Given the description of an element on the screen output the (x, y) to click on. 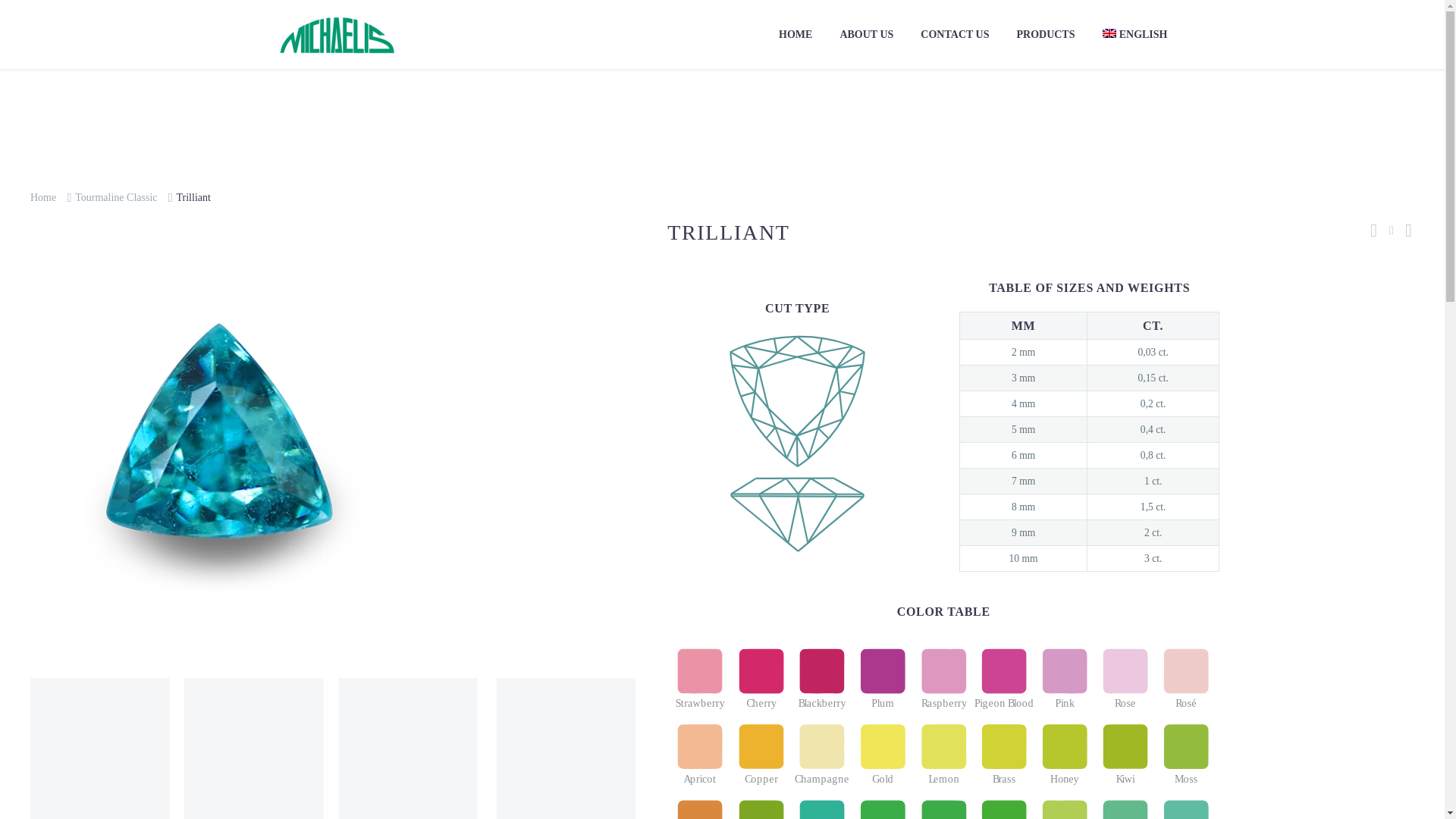
Tourmaline Classic (116, 197)
PRODUCTS (1045, 34)
HOME (795, 34)
Home (43, 197)
CONTACT US (954, 34)
ENGLISH (1133, 34)
ABOUT US (866, 34)
English (1133, 34)
